Given the description of an element on the screen output the (x, y) to click on. 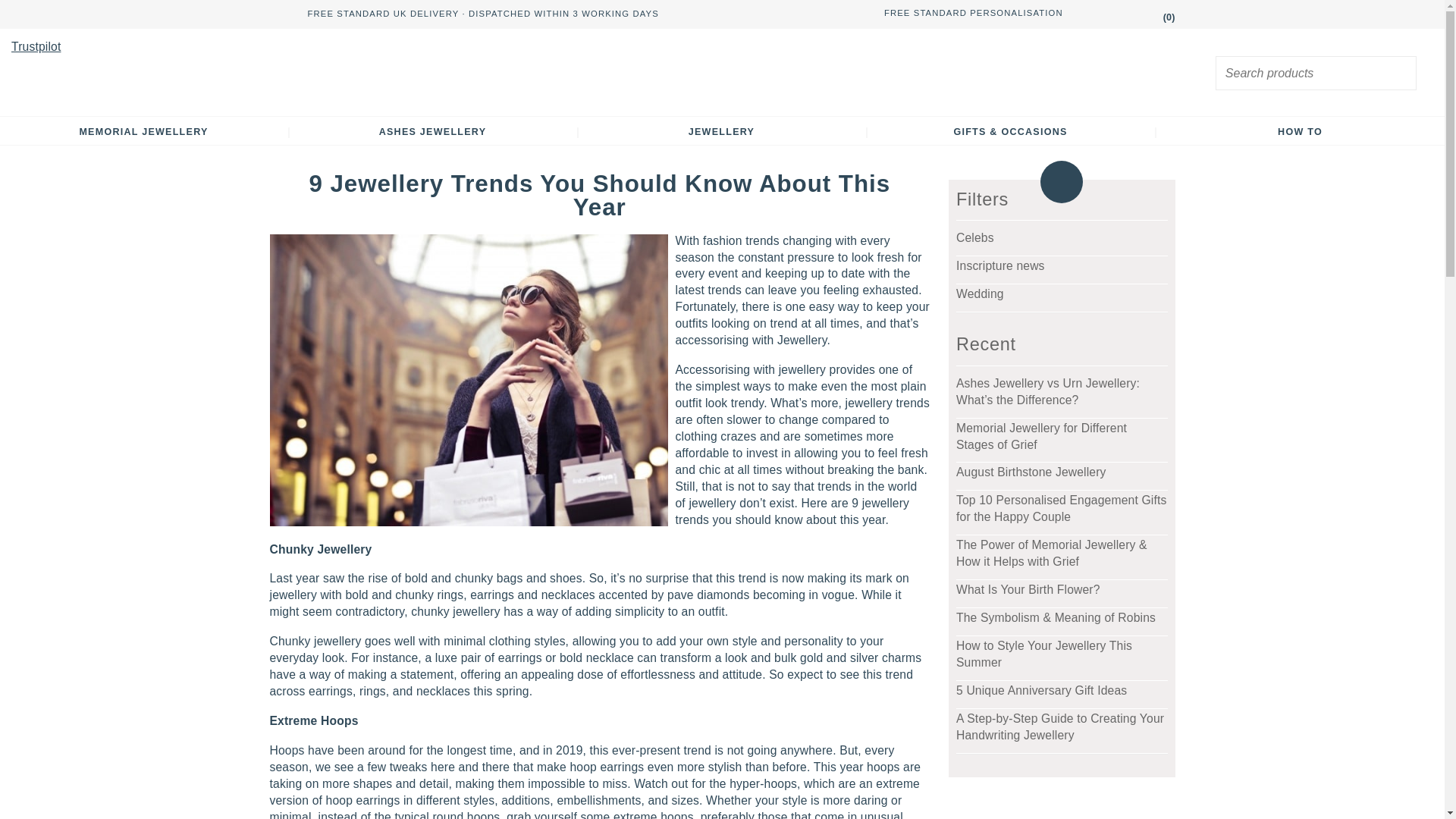
Inscripture (721, 72)
ASHES JEWELLERY (432, 131)
Trustpilot (36, 46)
SEARCH (1403, 73)
MEMORIAL JEWELLERY (143, 131)
